Given the description of an element on the screen output the (x, y) to click on. 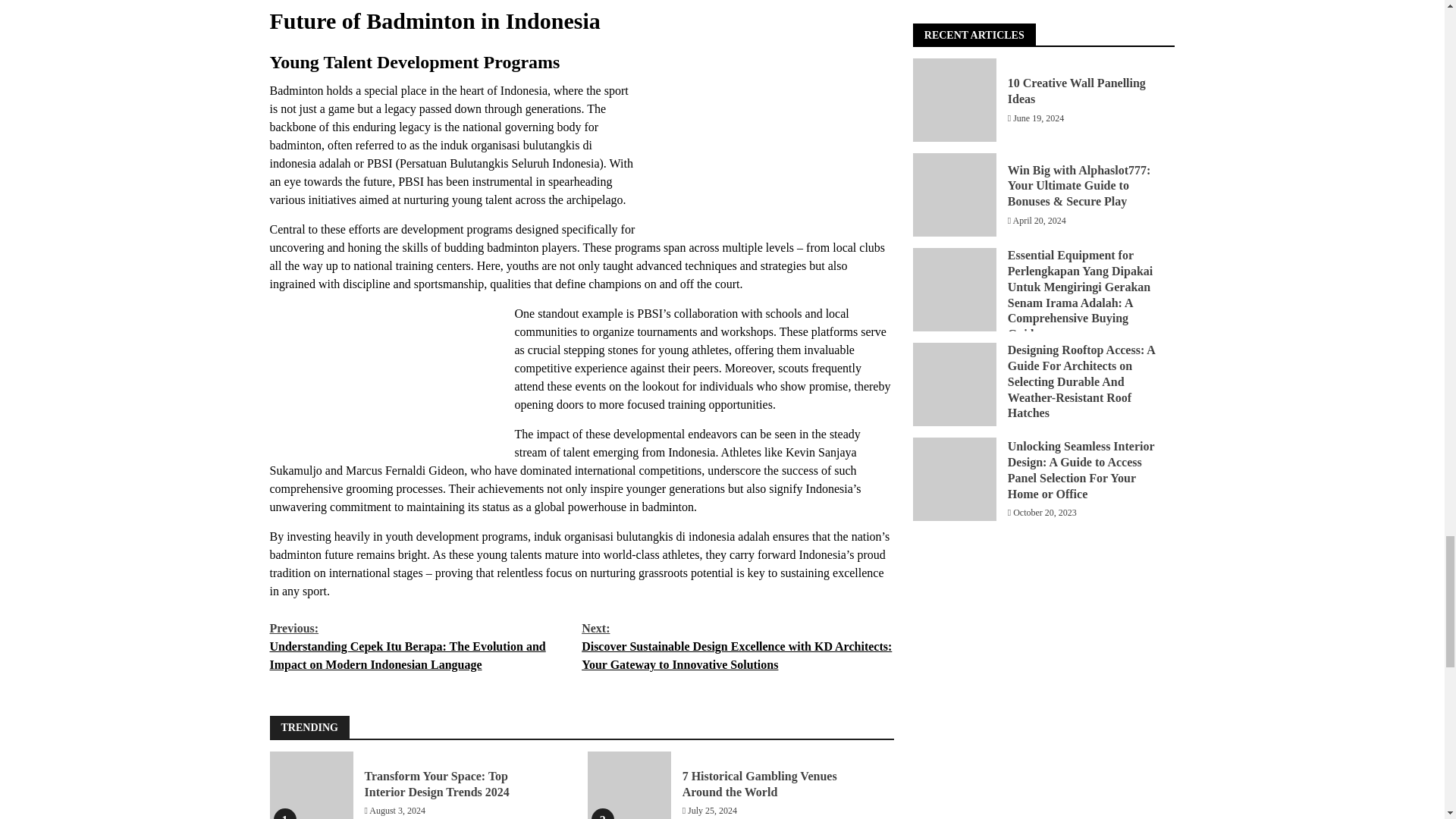
7 Historical Gambling Venues Around the World (759, 783)
Transform Your Space: Top Interior Design Trends 2024 (311, 785)
7 Historical Gambling Venues Around the World (629, 785)
Transform Your Space: Top Interior Design Trends 2024 (436, 783)
